Given the description of an element on the screen output the (x, y) to click on. 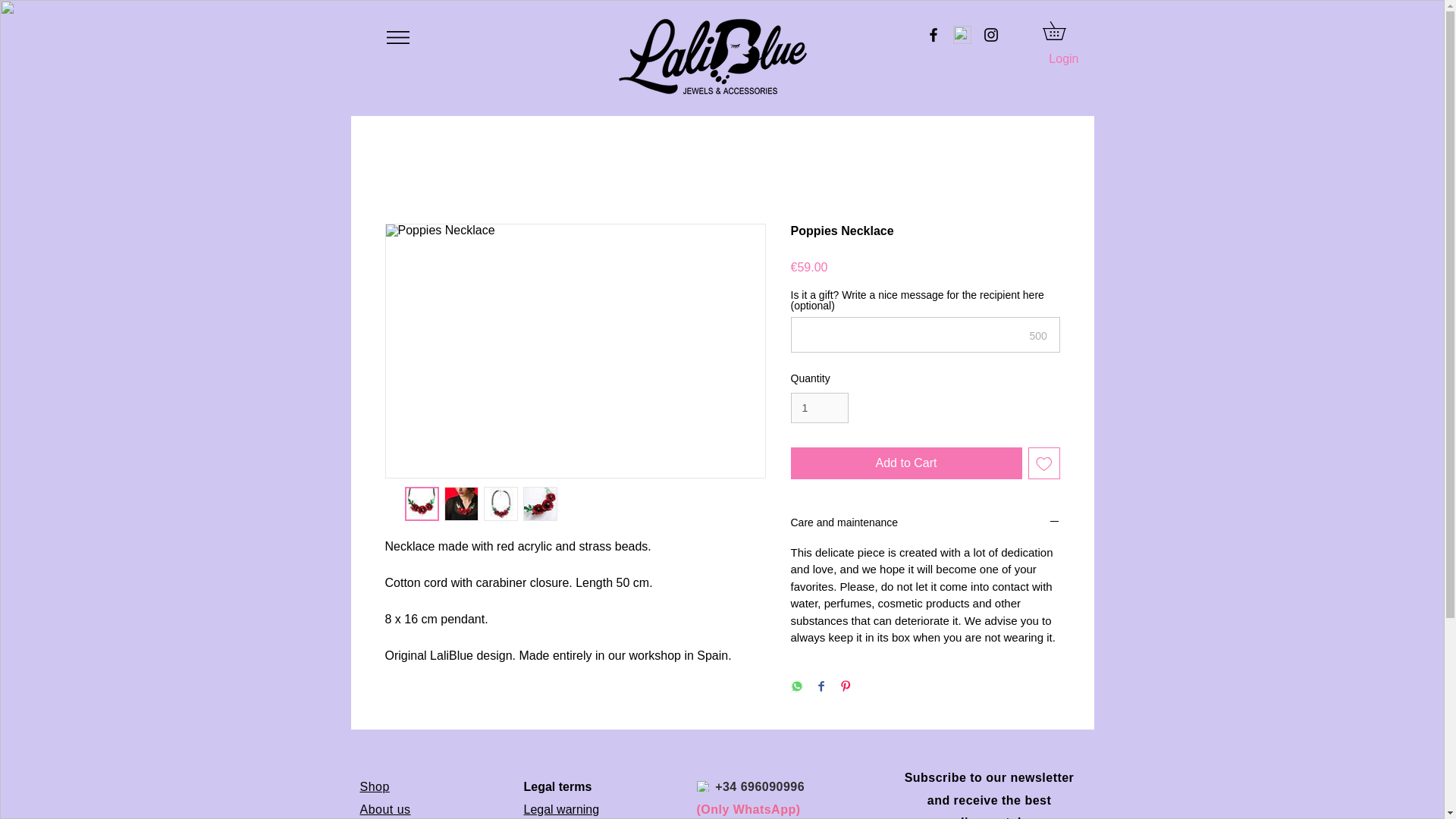
Shop (373, 786)
About us (384, 809)
1 (818, 408)
Add to Cart (906, 463)
Legal warning (560, 809)
Care and maintenance (924, 523)
Login (1063, 58)
